Given the description of an element on the screen output the (x, y) to click on. 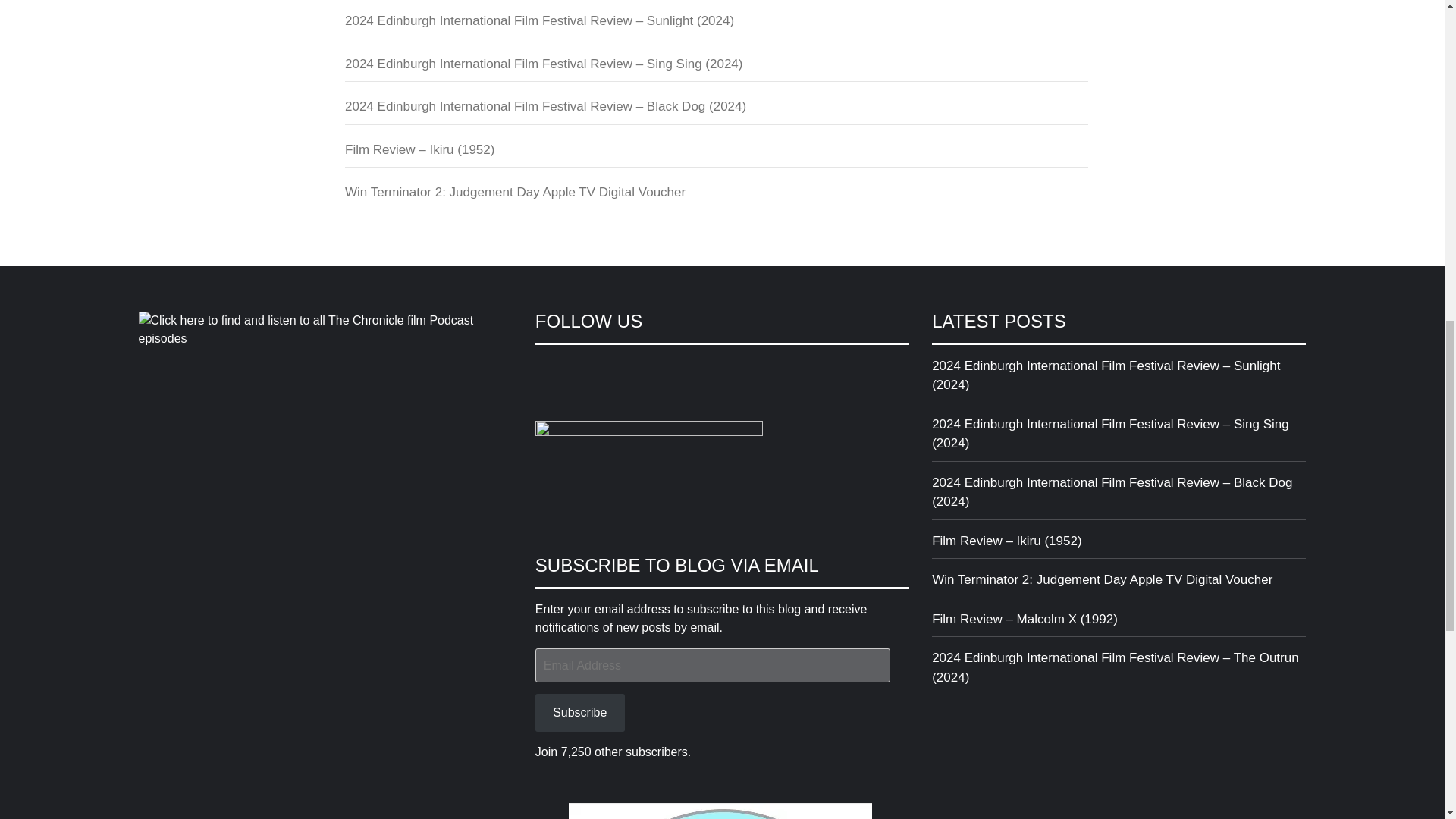
Win Terminator 2: Judgement Day Apple TV Digital Voucher (1118, 584)
Win Terminator 2: Judgement Day Apple TV Digital Voucher (716, 195)
X (574, 368)
Instagram (602, 368)
Subscribe (579, 712)
Facebook (547, 368)
YouTube (629, 368)
Pinterest (657, 368)
